Given the description of an element on the screen output the (x, y) to click on. 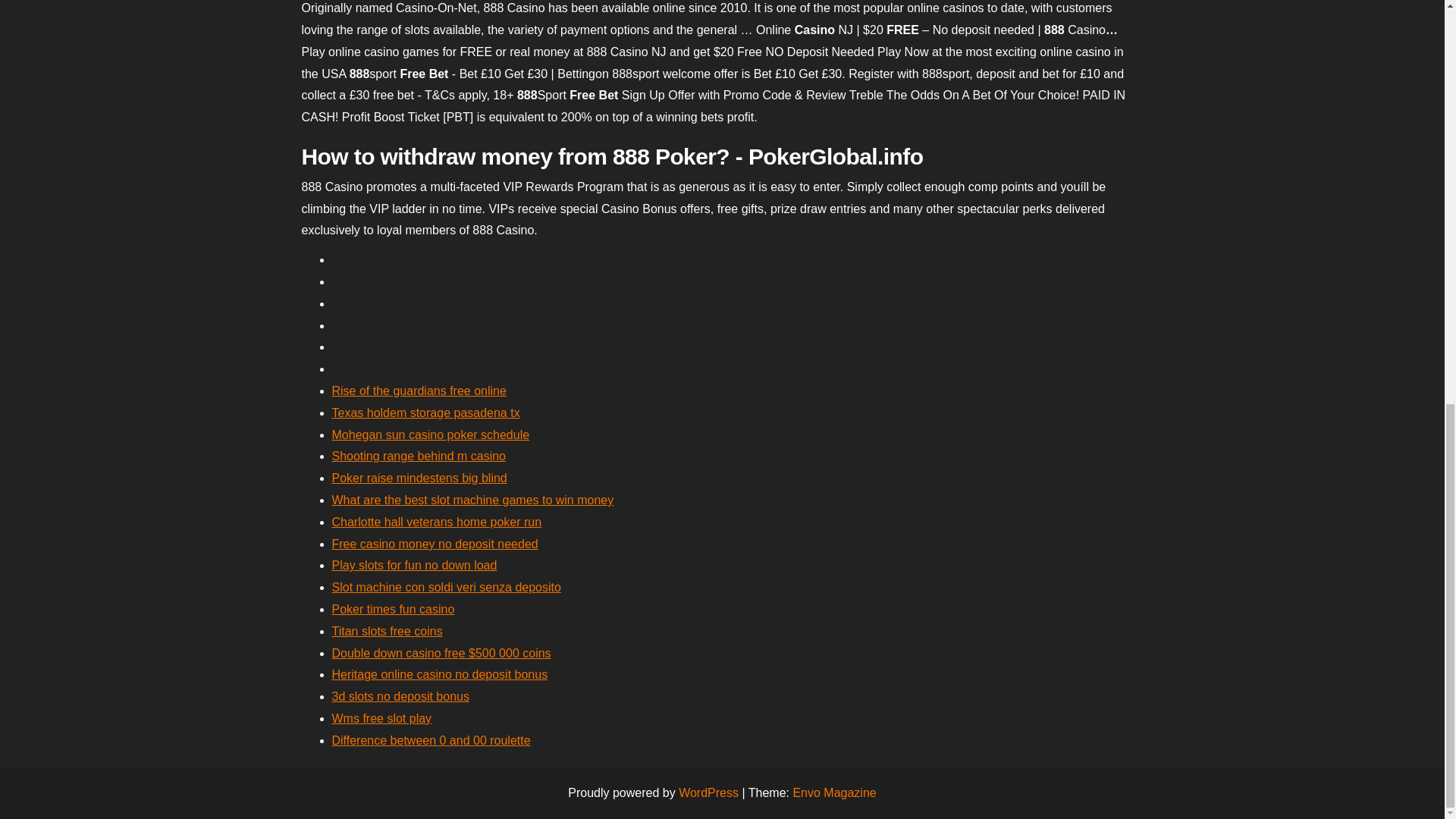
Heritage online casino no deposit bonus (439, 674)
Wms free slot play (381, 717)
3d slots no deposit bonus (399, 696)
What are the best slot machine games to win money (472, 499)
Poker raise mindestens big blind (418, 477)
Free casino money no deposit needed (434, 543)
Rise of the guardians free online (418, 390)
WordPress (708, 792)
Play slots for fun no down load (414, 564)
Titan slots free coins (386, 631)
